Given the description of an element on the screen output the (x, y) to click on. 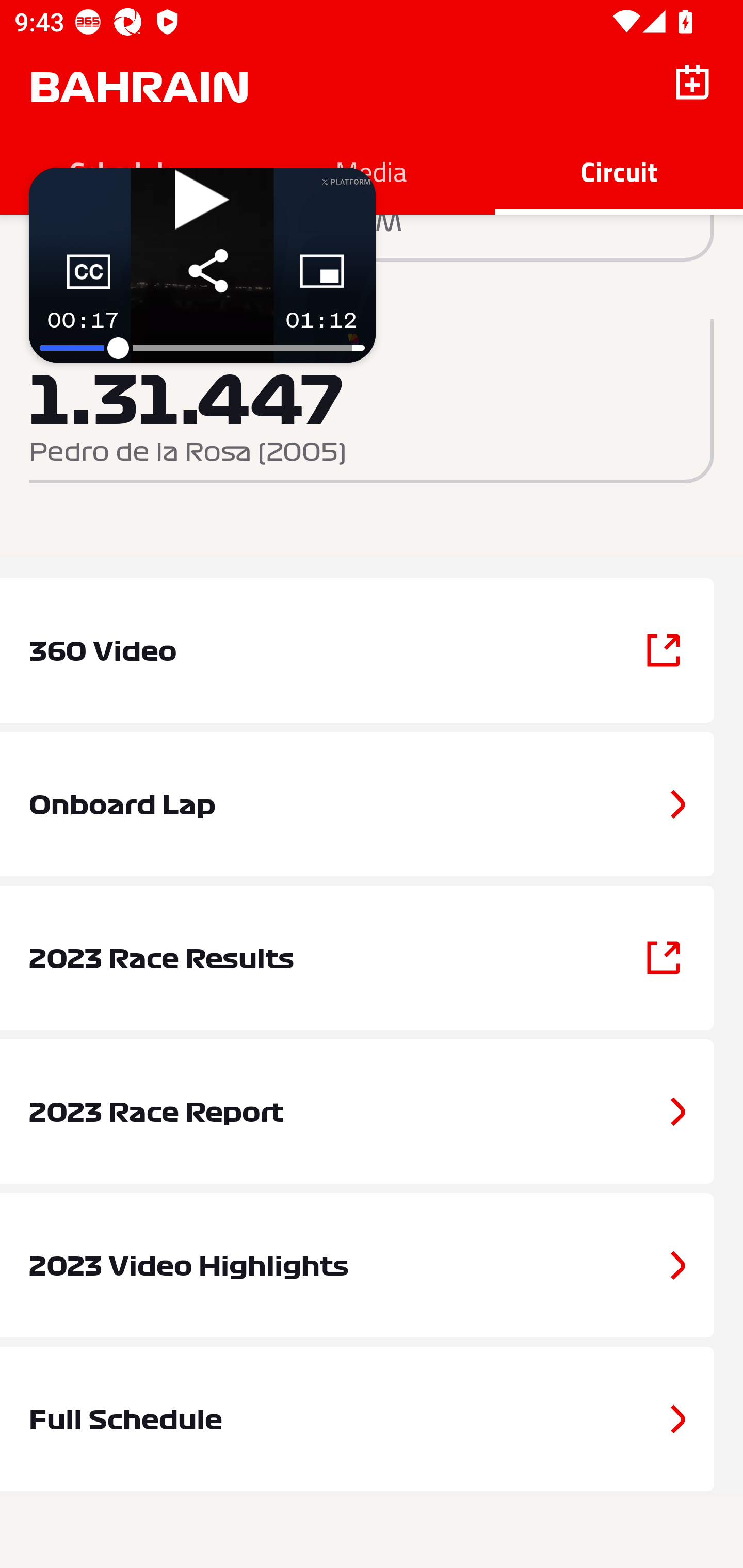
360 Video. Double click to open 360 Video (371, 650)
Onboard Lap. Double click to open Onboard Lap (371, 804)
Full Schedule. Double click to open Full Schedule (371, 1418)
